Given the description of an element on the screen output the (x, y) to click on. 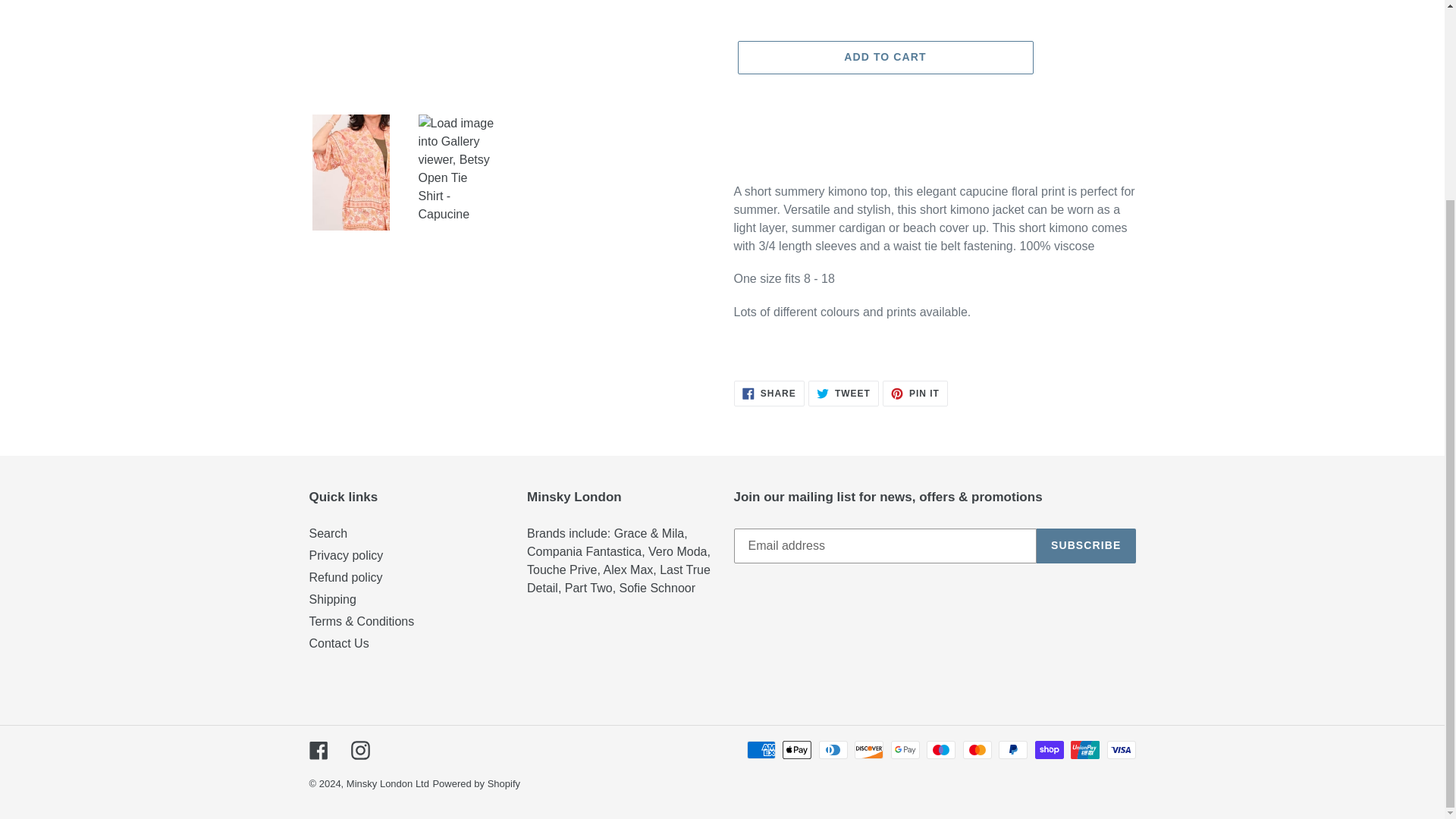
Privacy policy (346, 554)
ADD TO CART (843, 393)
Refund policy (914, 393)
Shipping (884, 57)
Search (345, 576)
